Given the description of an element on the screen output the (x, y) to click on. 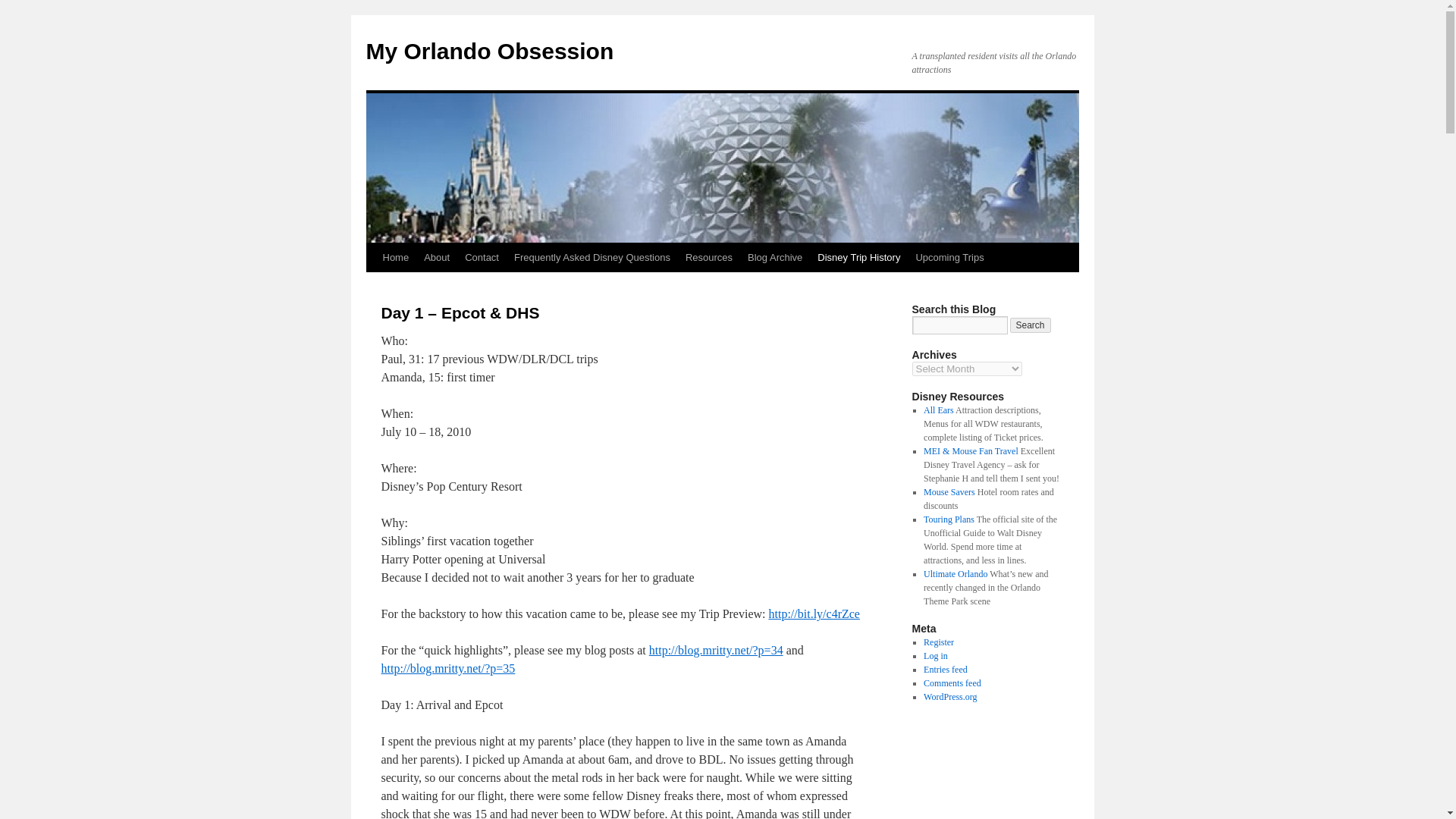
Contact (481, 257)
About (436, 257)
My Orlando Obsession (488, 50)
Blog Archive (774, 257)
Frequently Asked Disney Questions (592, 257)
Home (395, 257)
My Orlando Obsession (488, 50)
Search (1030, 324)
Hotel room rates and discounts (949, 491)
Resources (708, 257)
Disney Trip History (858, 257)
